Given the description of an element on the screen output the (x, y) to click on. 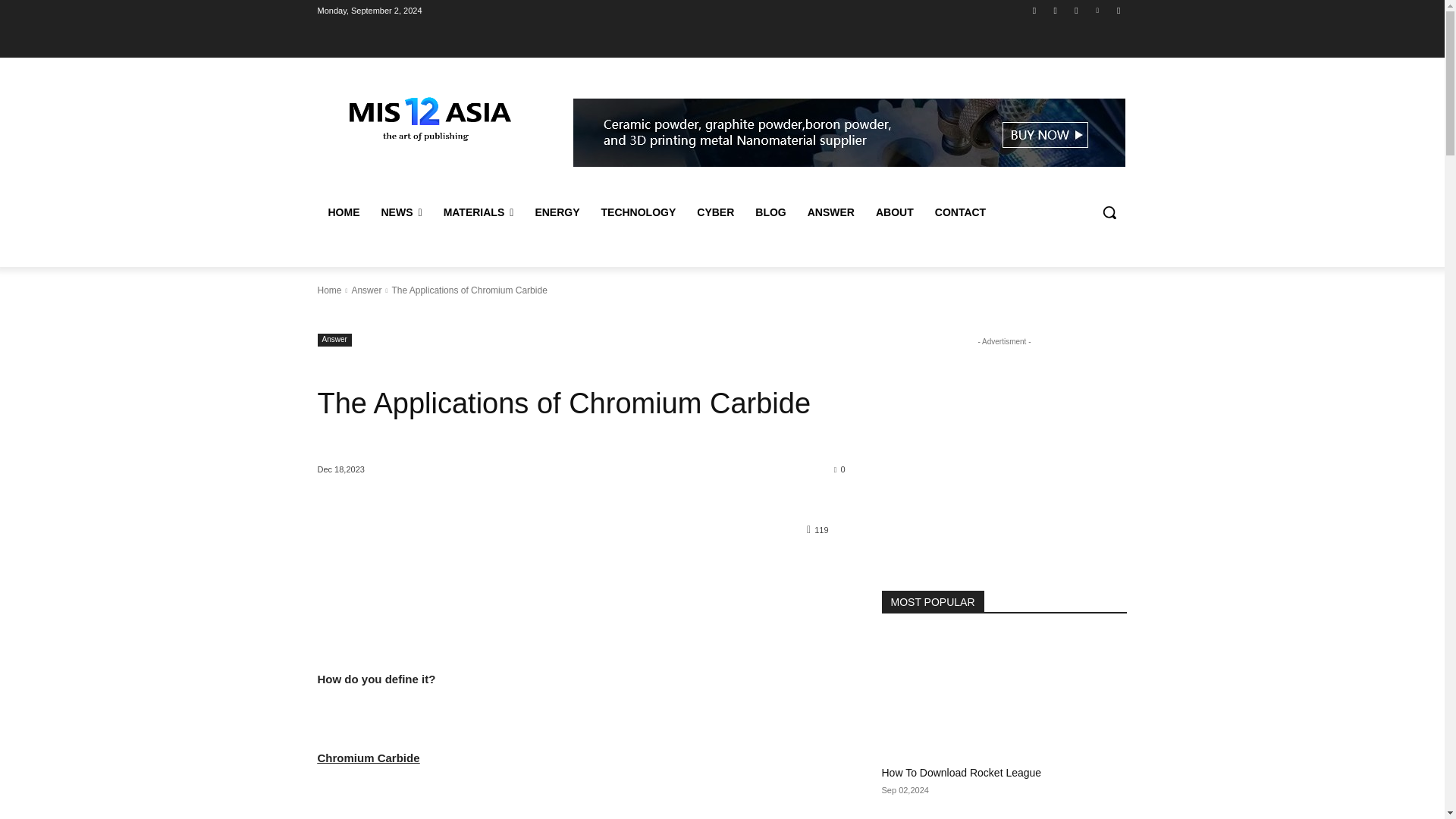
View all posts in Answer (365, 290)
Twitter (1075, 9)
Vimeo (1097, 9)
Facebook (1034, 9)
Instagram (1055, 9)
Youtube (1117, 9)
